Given the description of an element on the screen output the (x, y) to click on. 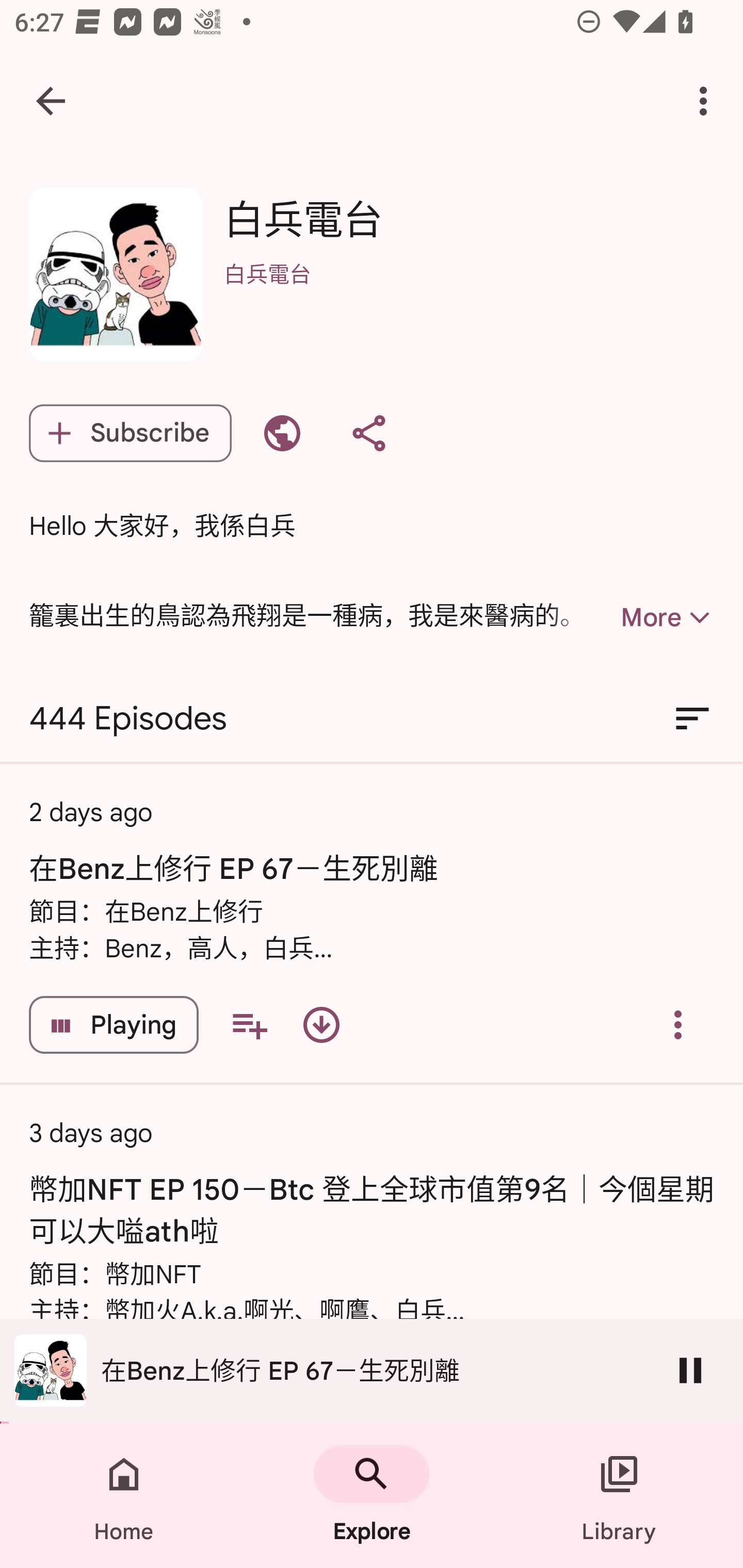
Navigate up (50, 101)
More options (706, 101)
白兵電台 (468, 300)
Subscribe (129, 433)
Visit website (282, 433)
Share (368, 433)
More (631, 616)
Sort (692, 718)
Pause episode 在Benz上修行 EP 67－生死別離 Playing (113, 1024)
Add to your queue (249, 1024)
Download episode (321, 1024)
Overflow menu (677, 1024)
白兵電台 在Benz上修行 EP 67－生死別離 Pause 7.0 (371, 1370)
Pause (690, 1370)
Home (123, 1495)
Library (619, 1495)
